Given the description of an element on the screen output the (x, y) to click on. 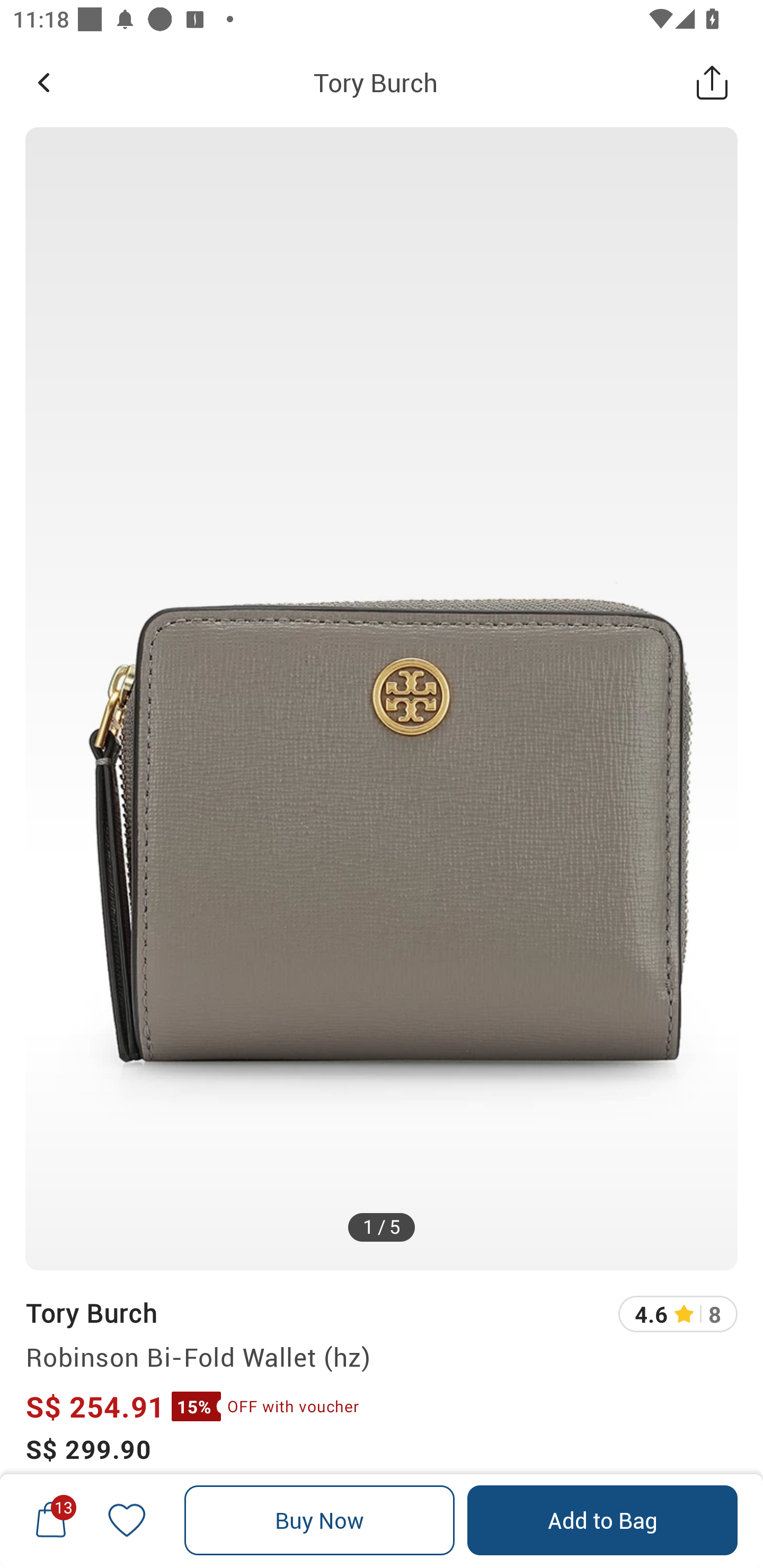
Tory Burch (375, 82)
Share this Product (711, 82)
Tory Burch (91, 1312)
4.6 8 (677, 1313)
Buy Now (319, 1519)
Add to Bag (601, 1519)
13 (50, 1520)
